Given the description of an element on the screen output the (x, y) to click on. 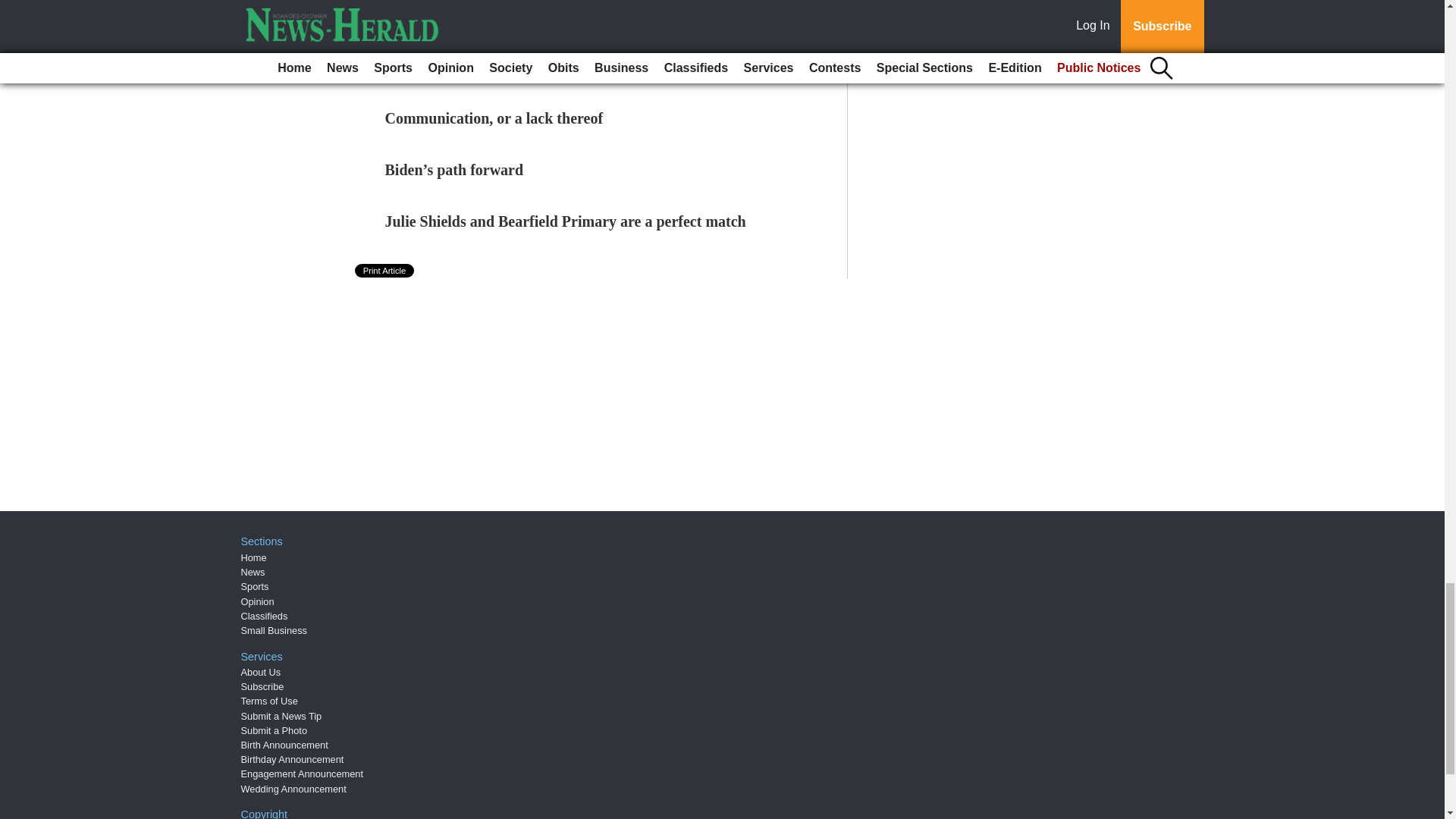
Julie Shields and Bearfield Primary are a perfect match (565, 221)
Fire tax vs. public safety vs. local volunteerism (535, 66)
Communication, or a lack thereof (494, 117)
Communication, or a lack thereof (494, 117)
Julie Shields and Bearfield Primary are a perfect match (565, 221)
Print Article (384, 270)
Fire tax vs. public safety vs. local volunteerism (535, 66)
